Given the description of an element on the screen output the (x, y) to click on. 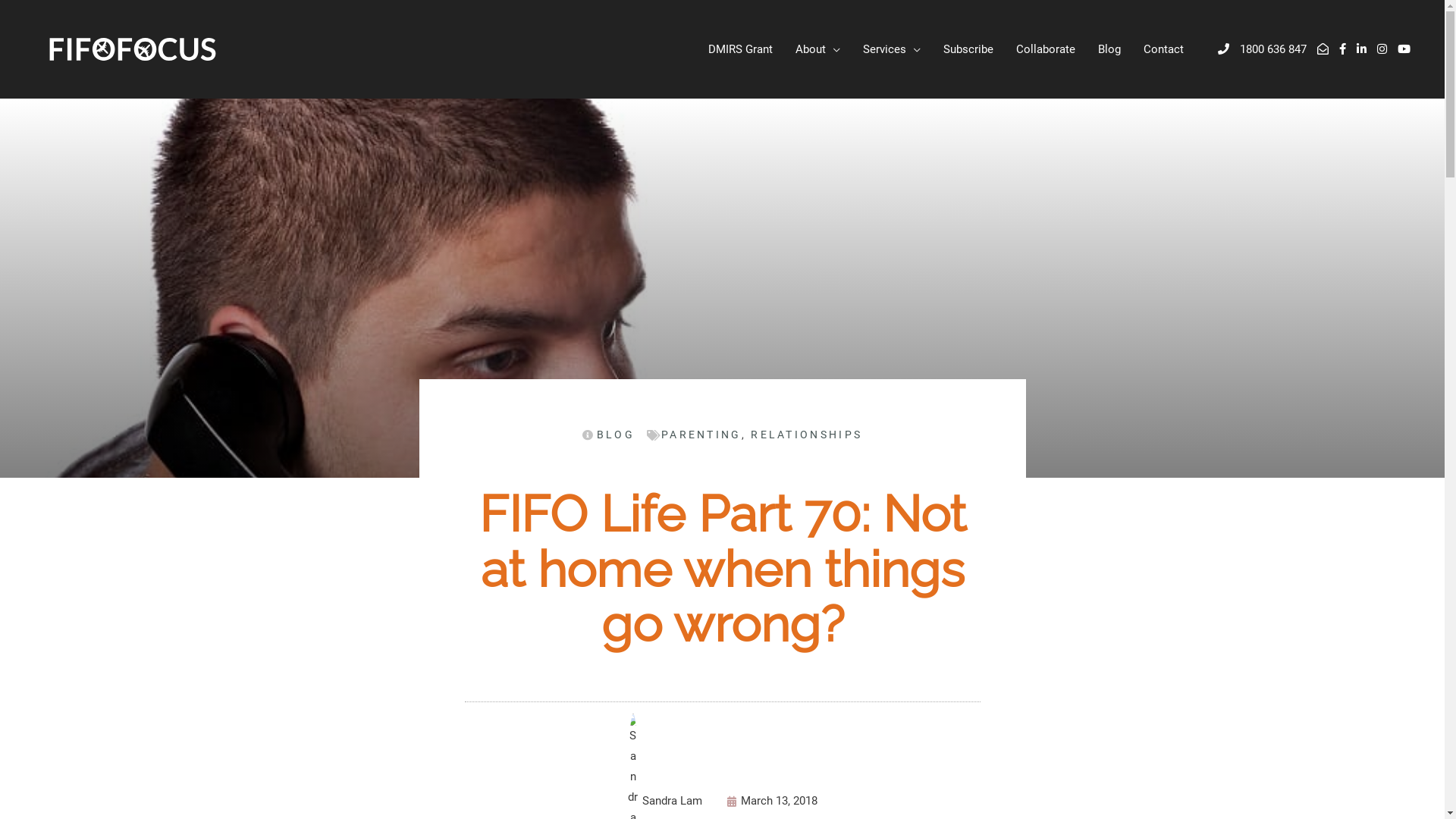
BLOG Element type: text (608, 434)
Services Element type: text (891, 49)
RELATIONSHIPS Element type: text (806, 434)
DMIRS Grant Element type: text (740, 49)
Collaborate Element type: text (1045, 49)
About Element type: text (817, 49)
Subscribe Element type: text (967, 49)
PARENTING Element type: text (701, 434)
Blog Element type: text (1109, 49)
1800 636 847 Element type: text (1261, 49)
Contact Element type: text (1163, 49)
